Given the description of an element on the screen output the (x, y) to click on. 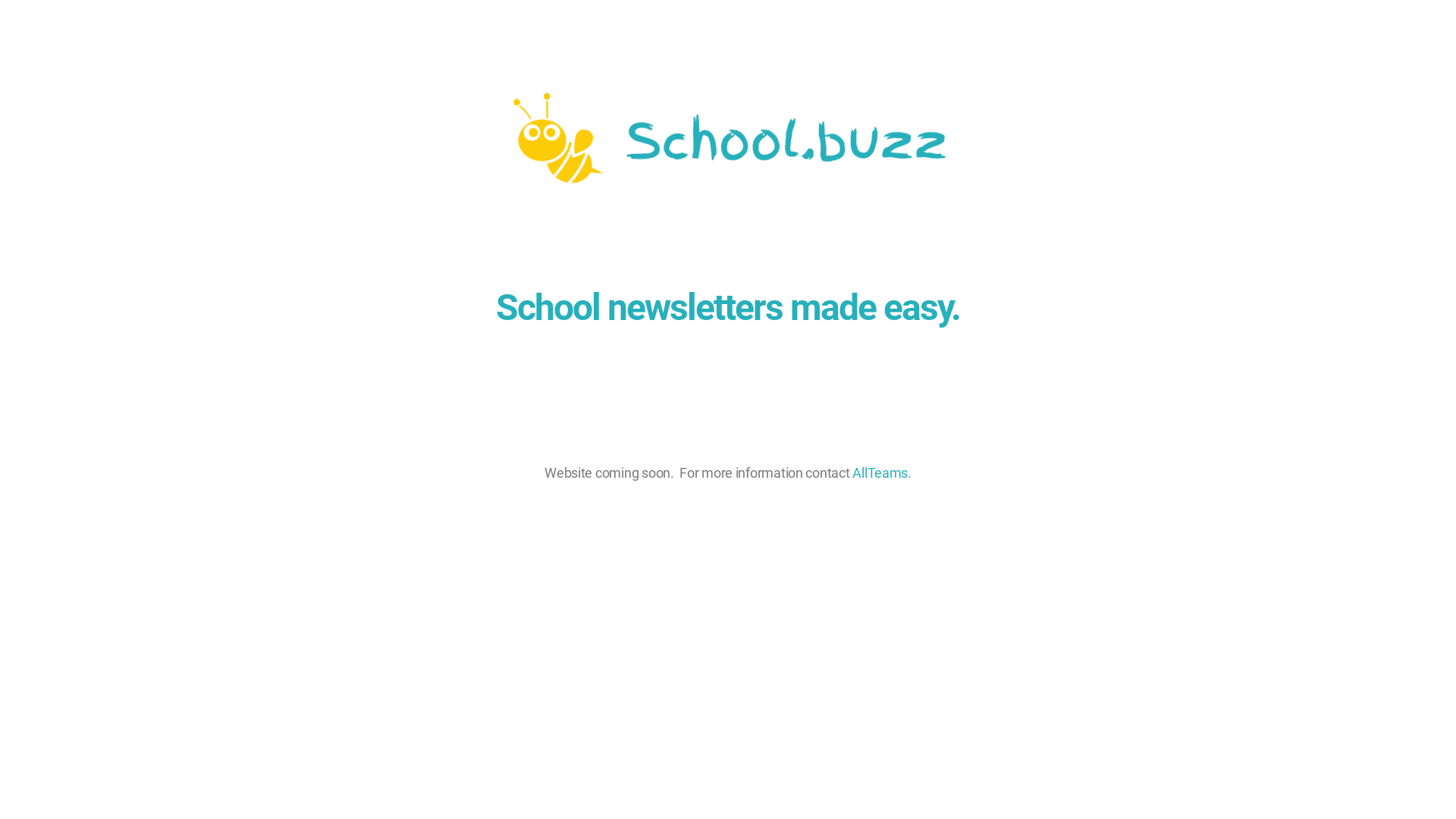
AllTeams Element type: text (879, 472)
